Given the description of an element on the screen output the (x, y) to click on. 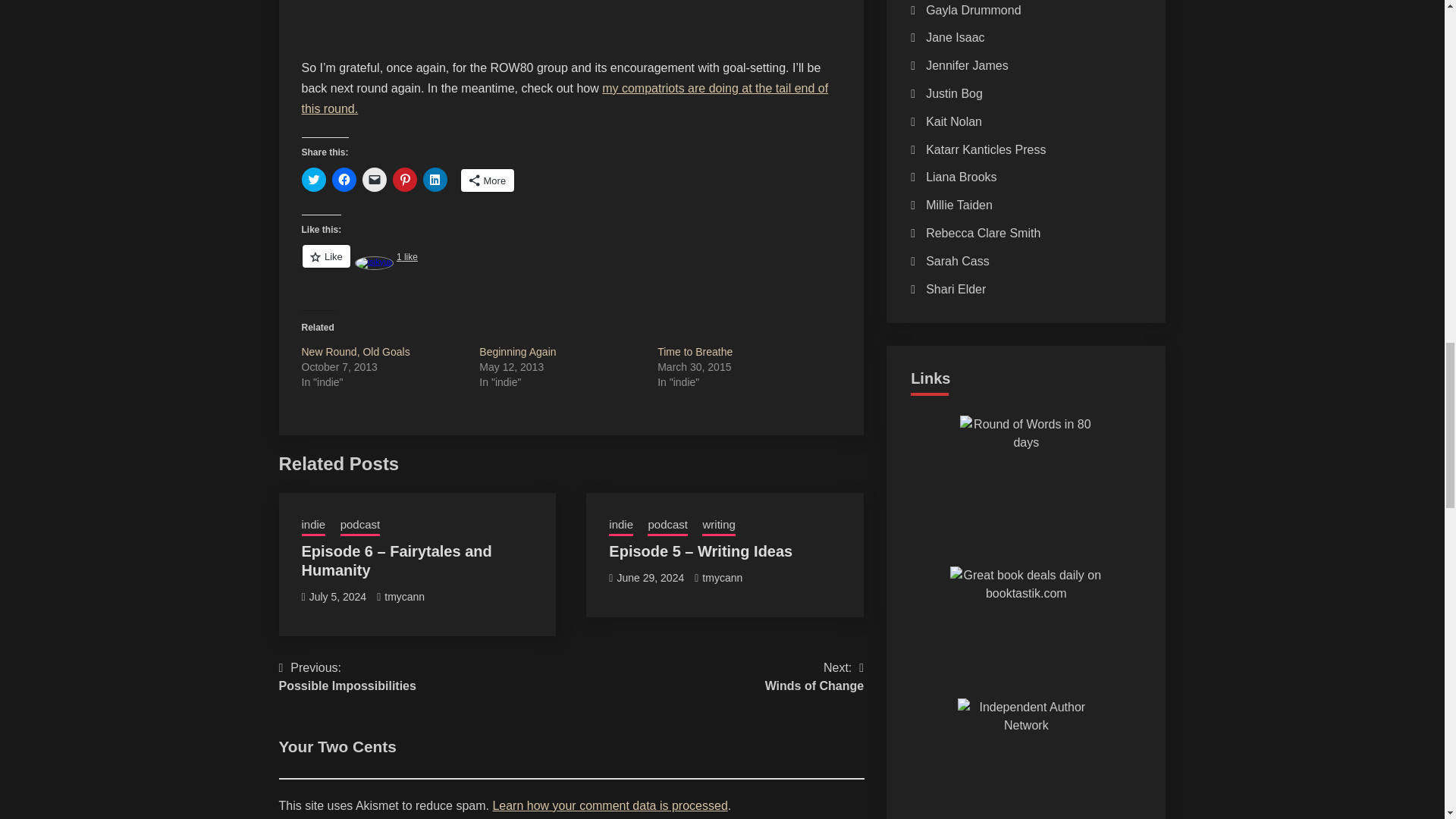
Click to share on LinkedIn (434, 179)
New Round, Old Goals (355, 351)
Click to share on Facebook (343, 179)
Like or Reblog (571, 264)
Click to share on Pinterest (404, 179)
Click to email a link to a friend (374, 179)
Click to share on Twitter (313, 179)
Beginning Again (517, 351)
